Given the description of an element on the screen output the (x, y) to click on. 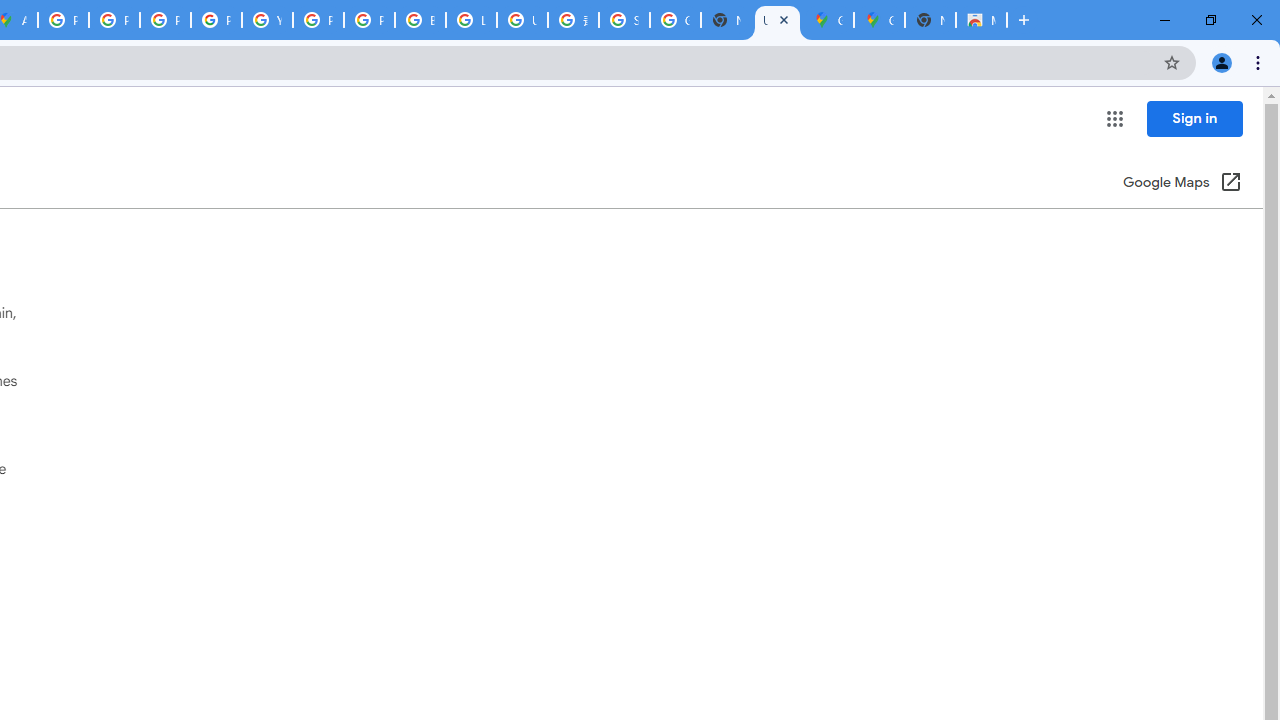
Google Maps (827, 20)
Google Maps (878, 20)
Use Google Maps in Space - Google Maps Help (776, 20)
